Given the description of an element on the screen output the (x, y) to click on. 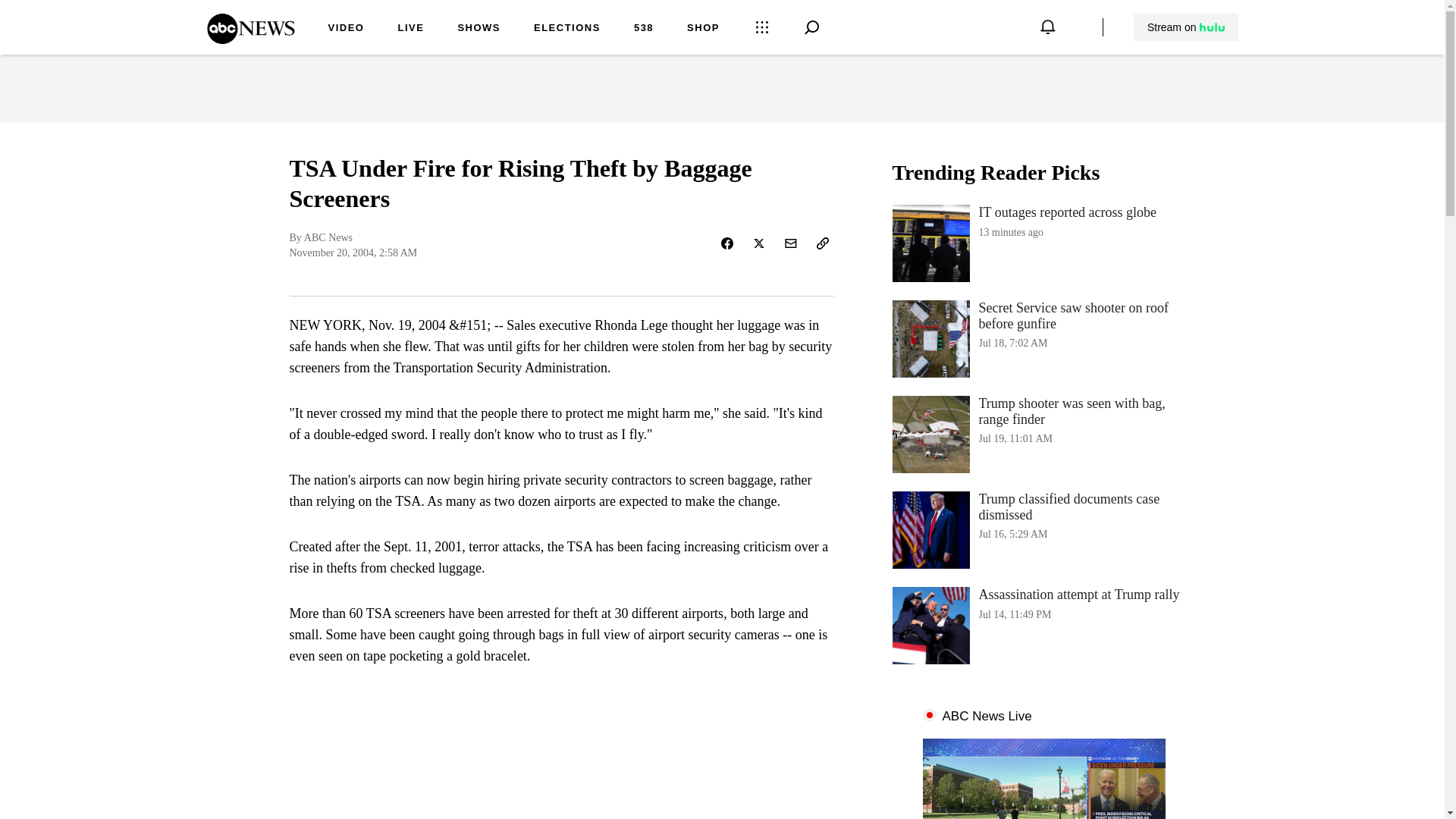
VIDEO (345, 28)
SHOWS (478, 28)
SHOP (703, 28)
ELECTIONS (1043, 625)
Stream on (1043, 242)
ABC News (1043, 529)
Stream on (566, 28)
538 (1186, 26)
LIVE (250, 38)
